Given the description of an element on the screen output the (x, y) to click on. 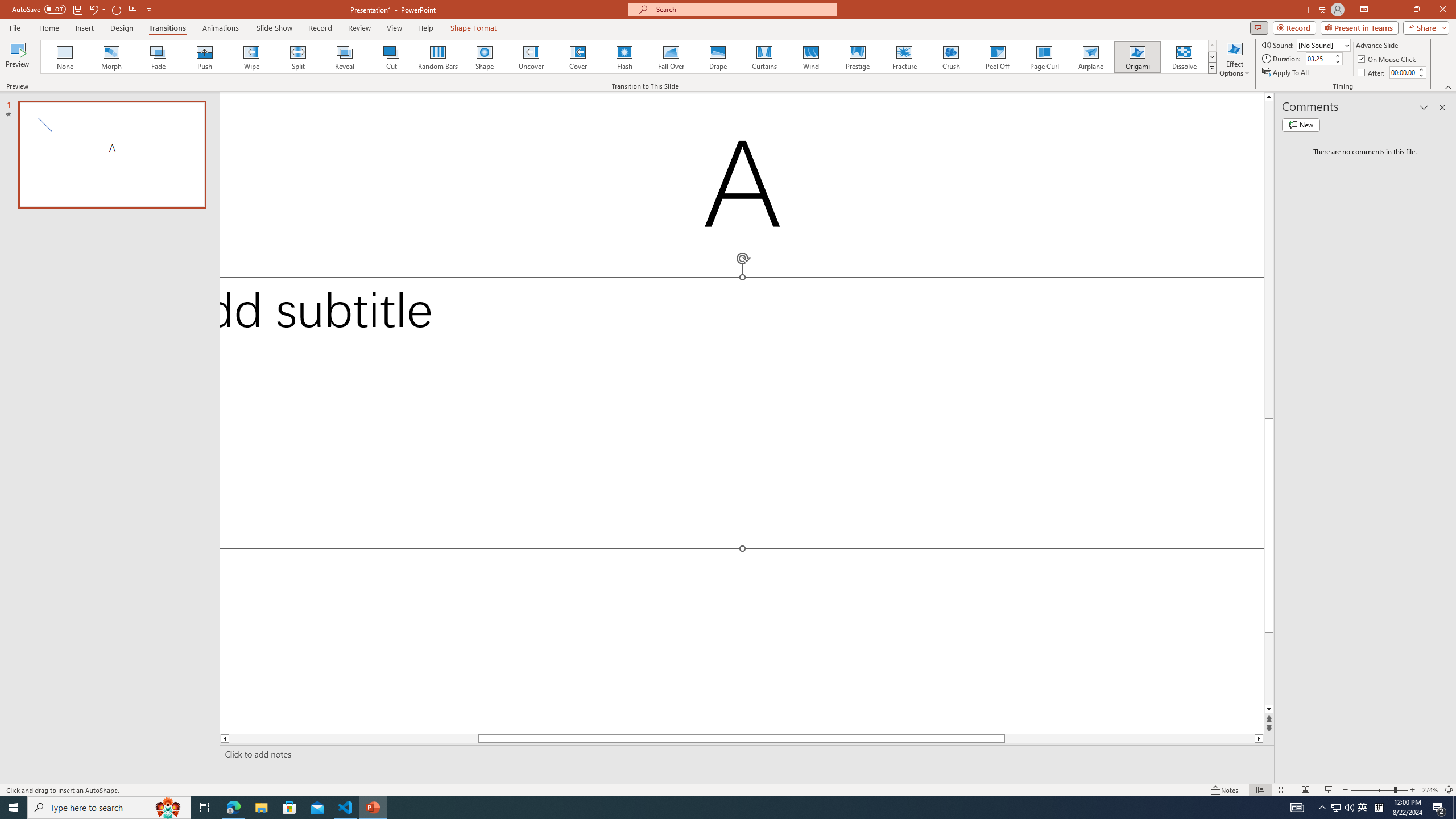
Curtains (764, 56)
Effect Options (1234, 58)
Push (205, 56)
Prestige (857, 56)
AutomationID: AnimationTransitionGallery (628, 56)
Drape (717, 56)
